Given the description of an element on the screen output the (x, y) to click on. 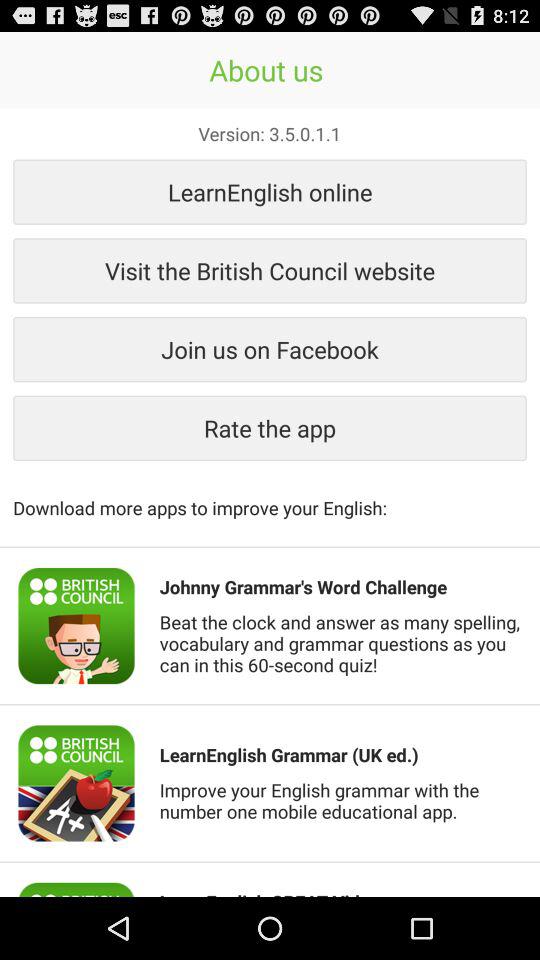
open item above join us on button (269, 270)
